Given the description of an element on the screen output the (x, y) to click on. 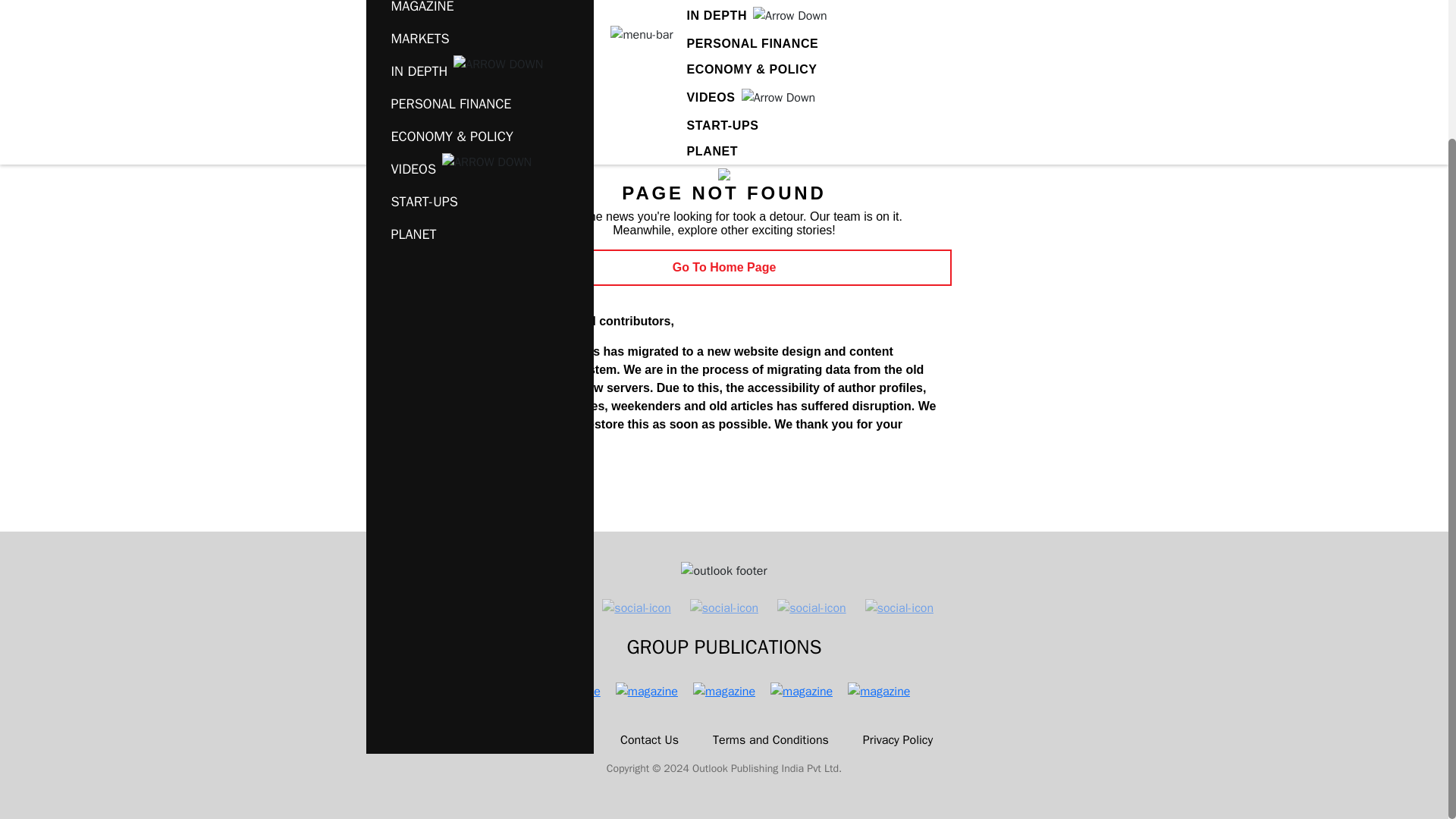
VIDEOS (404, 169)
PLANET (712, 151)
MAGAZINE (413, 11)
START-UPS (722, 125)
IN DEPTH (409, 71)
MARKETS (410, 38)
PERSONAL FINANCE (752, 43)
VIDEOS (711, 97)
IN DEPTH (716, 15)
PERSONAL FINANCE (441, 103)
